Given the description of an element on the screen output the (x, y) to click on. 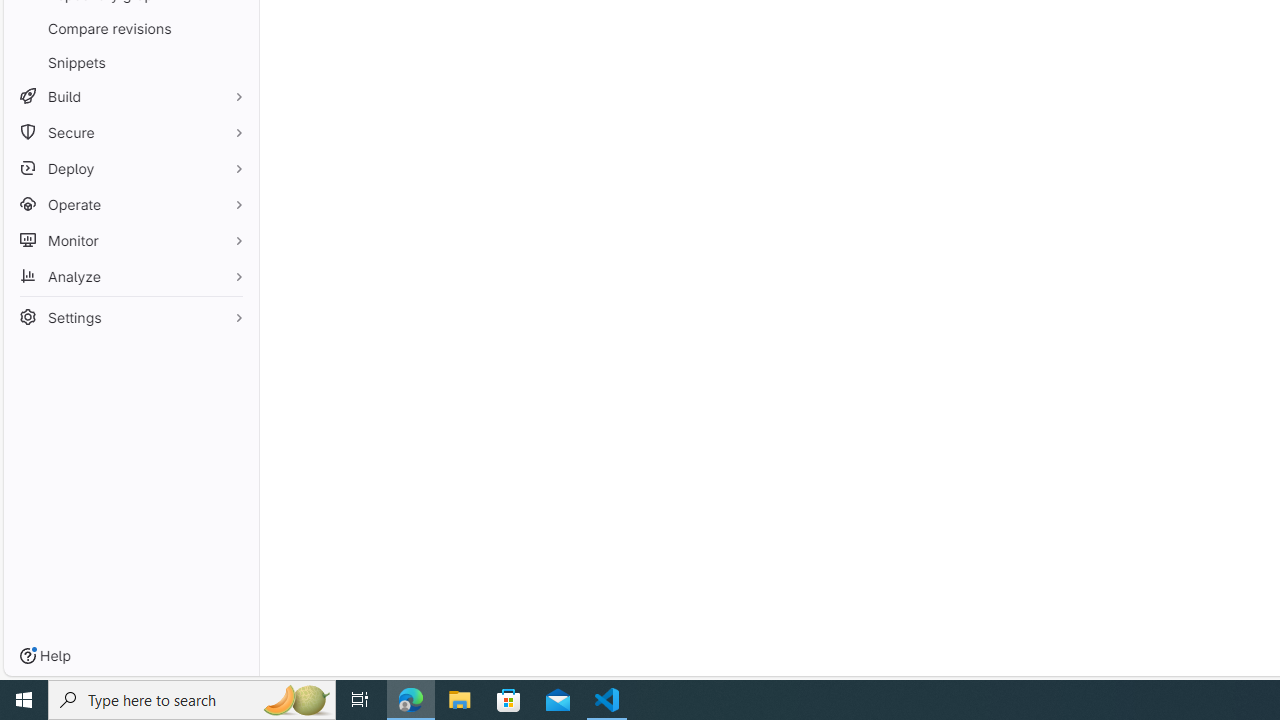
Operate (130, 204)
Snippets (130, 62)
Monitor (130, 240)
Secure (130, 132)
Deploy (130, 168)
